Given the description of an element on the screen output the (x, y) to click on. 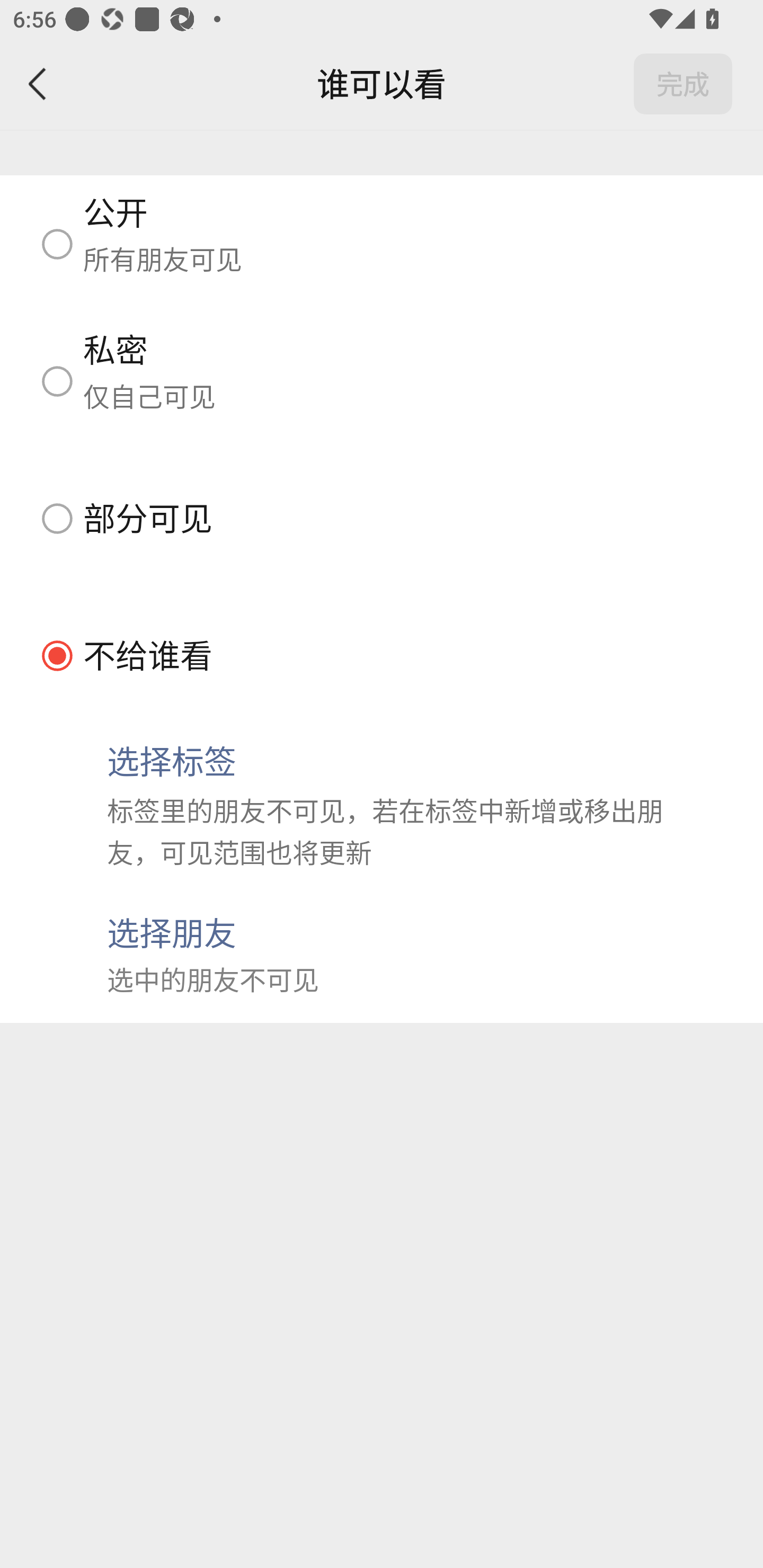
返回 (38, 83)
完成 (683, 83)
已选中 公开 所有朋友可见 (381, 243)
私密 仅自己可见 (381, 381)
部分可见 (381, 518)
已选中 不给谁看 (381, 655)
选择标签 标签里的朋友不可见，若在标签中新增或移出朋友，可见范围也将更新 (381, 804)
选择朋友 选中的朋友不可见 (381, 953)
